Given the description of an element on the screen output the (x, y) to click on. 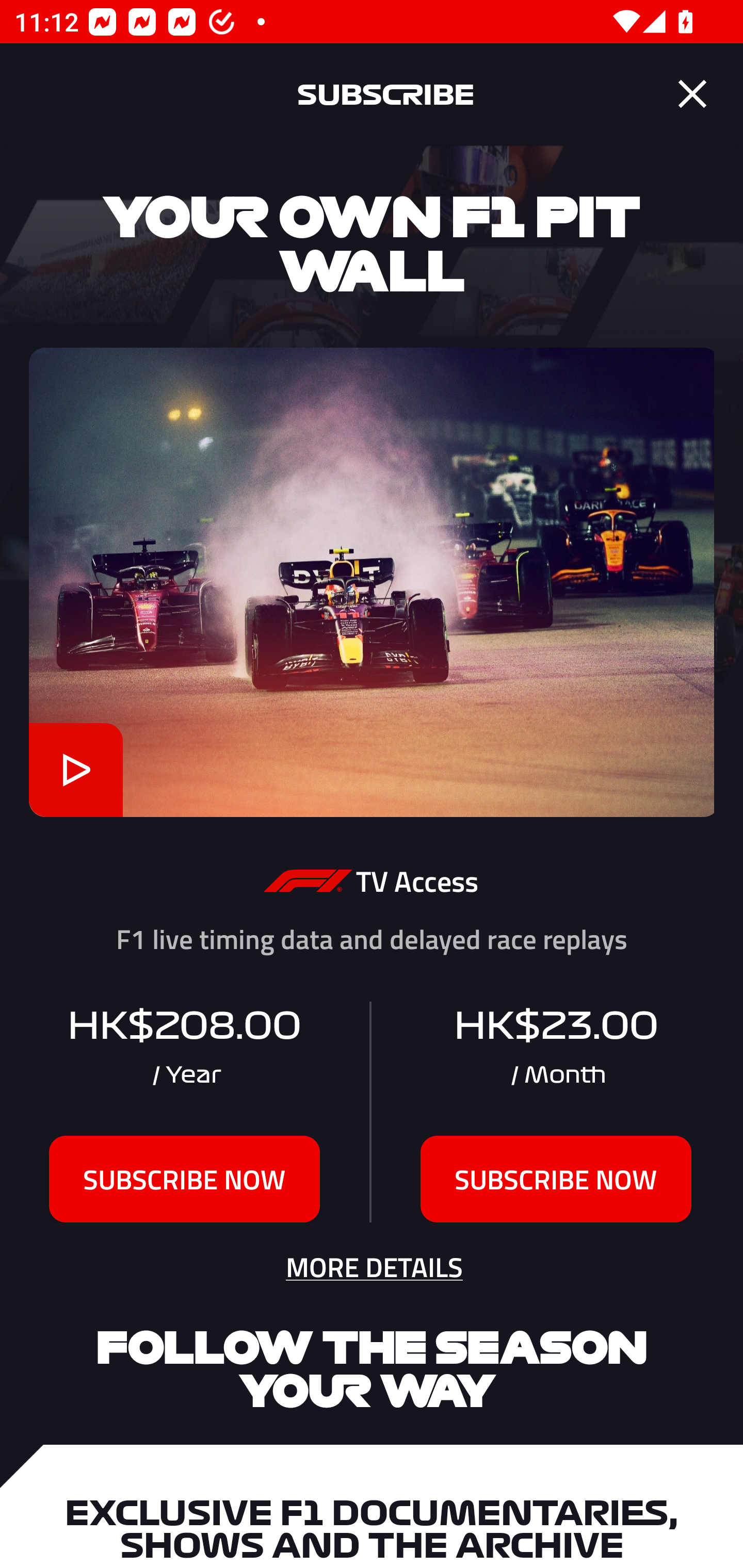
Close (692, 93)
Video Component, tap to play Video (75, 769)
SUBSCRIBE NOW (184, 1179)
SUBSCRIBE NOW (555, 1179)
